Given the description of an element on the screen output the (x, y) to click on. 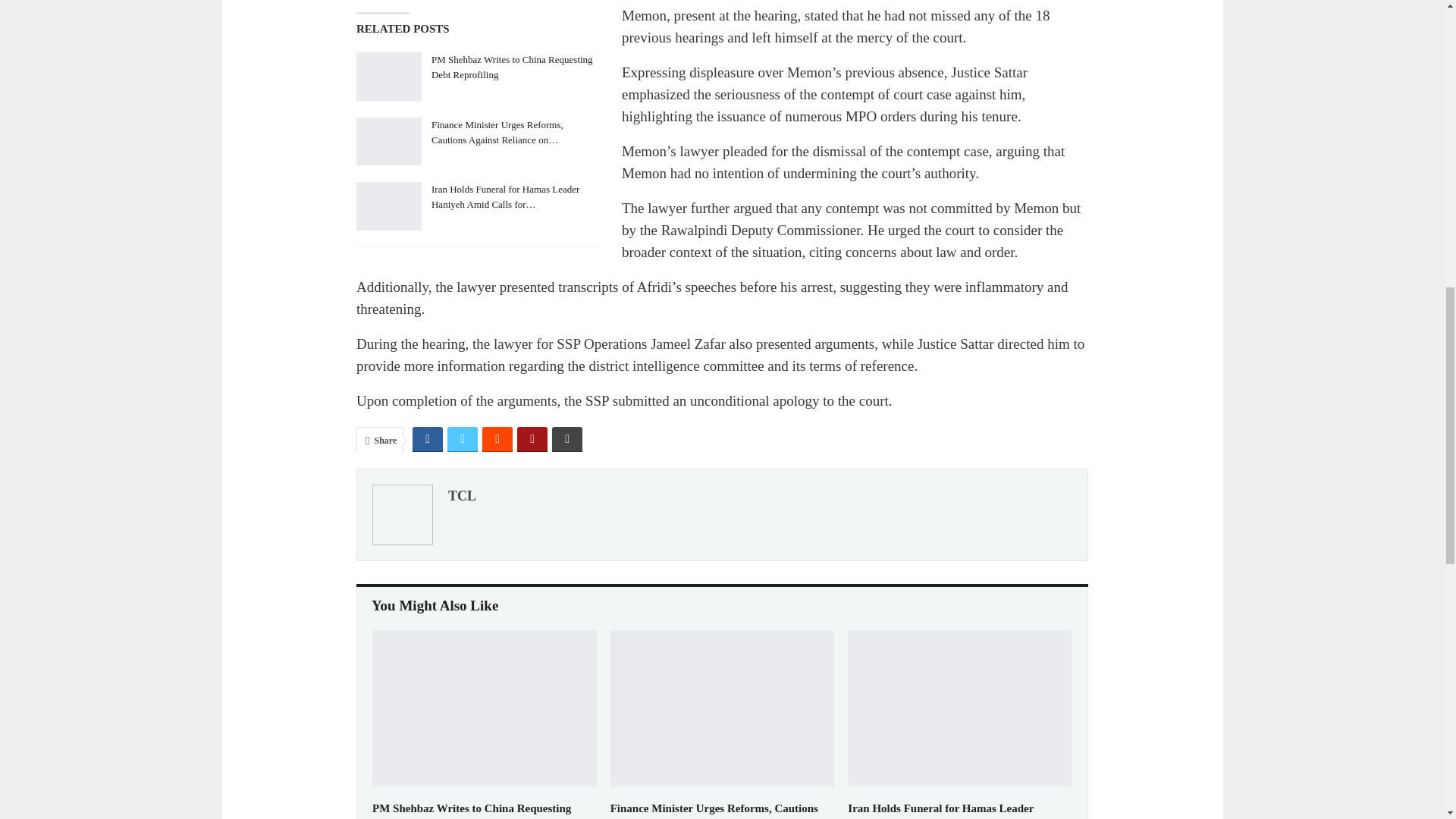
PM Shehbaz Writes to China Requesting Debt Reprofiling (484, 708)
PM Shehbaz Writes to China Requesting Debt Reprofiling (389, 76)
PM Shehbaz Writes to China Requesting Debt Reprofiling (471, 810)
